Given the description of an element on the screen output the (x, y) to click on. 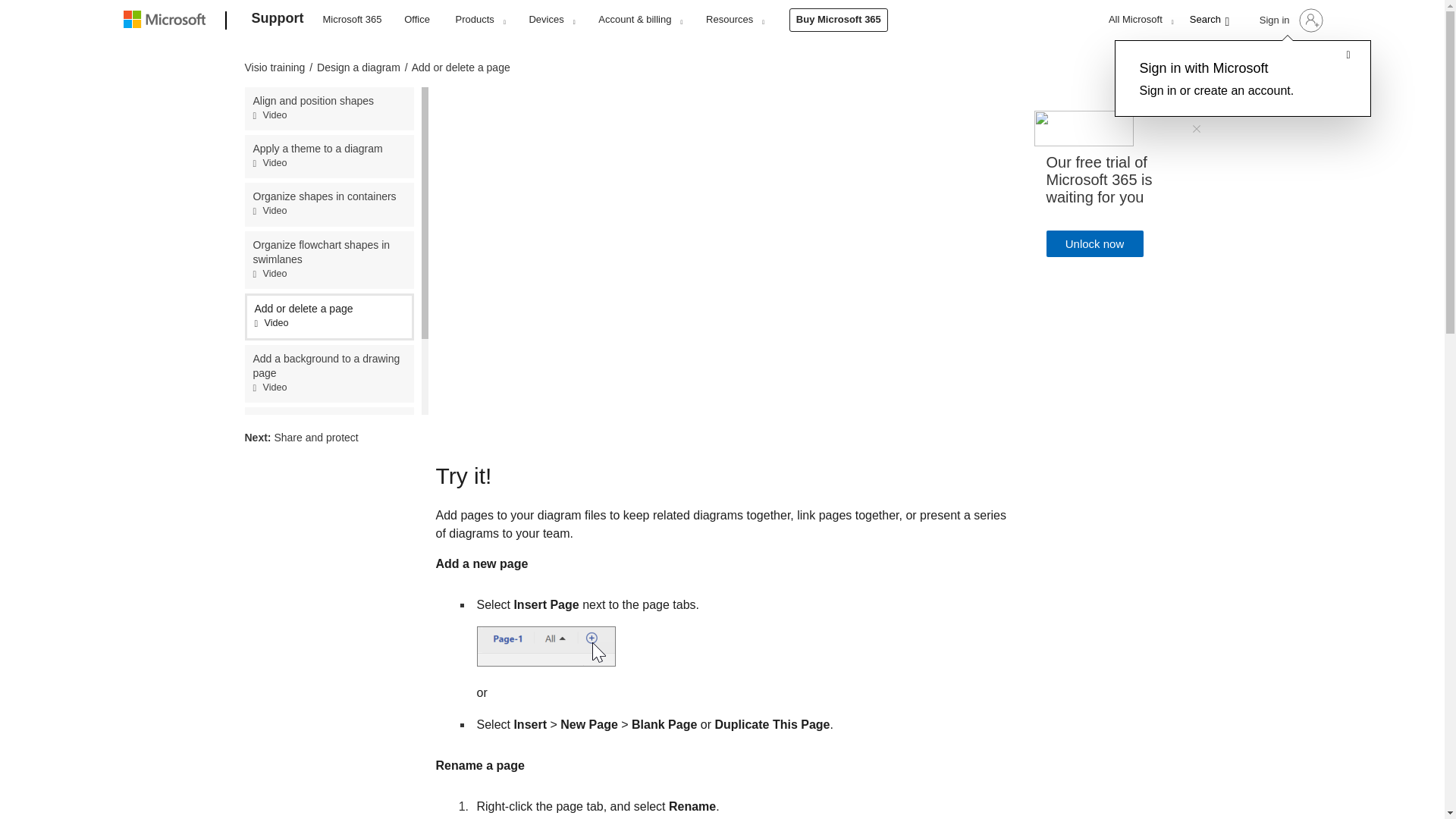
Support (277, 20)
Microsoft (167, 20)
Microsoft 365 (351, 18)
Products (480, 18)
Devices (550, 18)
Office (416, 18)
